Given the description of an element on the screen output the (x, y) to click on. 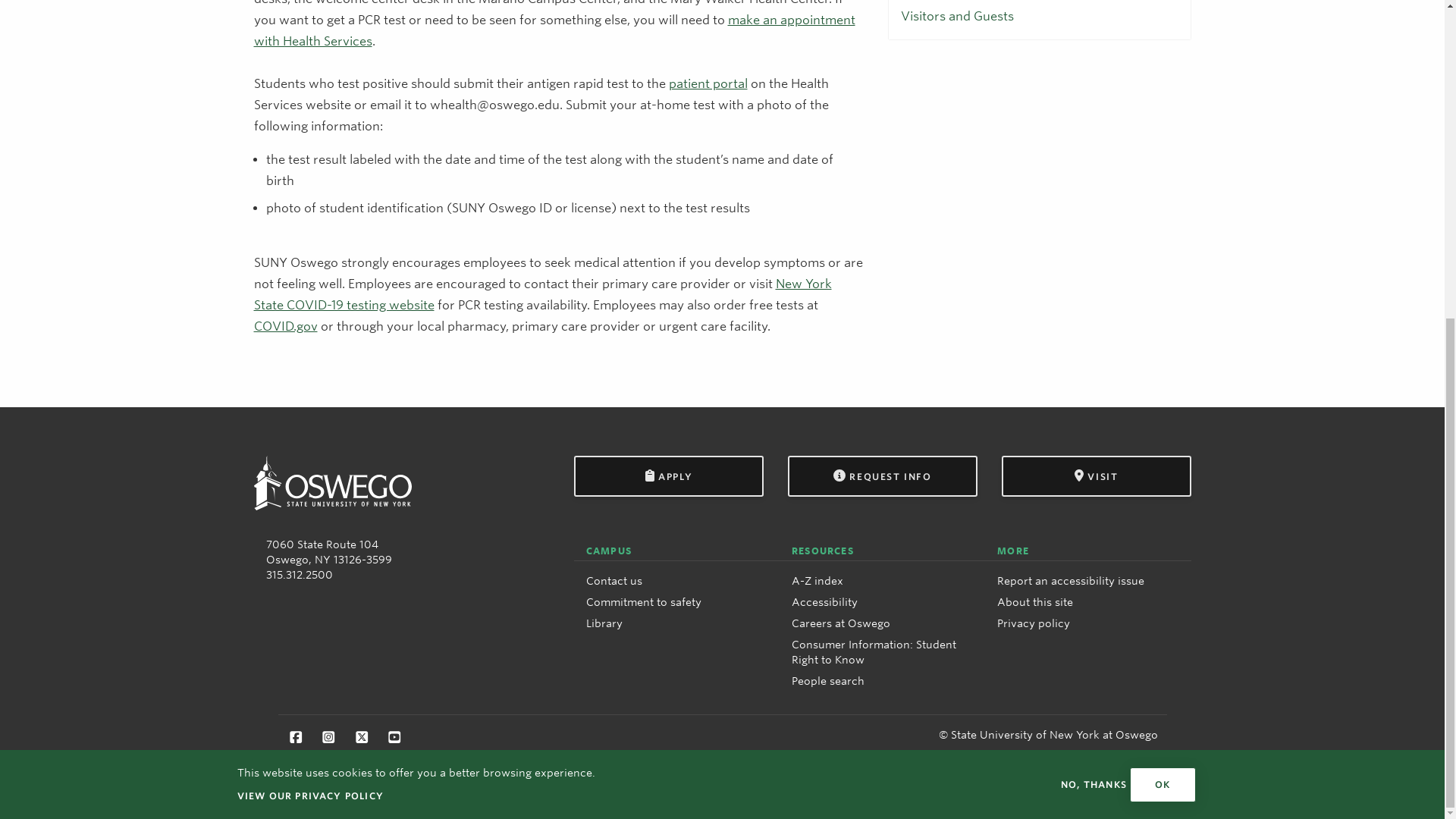
Apply Now (667, 475)
Request Info (881, 475)
Visit Us (1096, 475)
VIEW OUR PRIVACY POLICY (309, 282)
OK (1162, 271)
NO, THANKS (1093, 271)
